Given the description of an element on the screen output the (x, y) to click on. 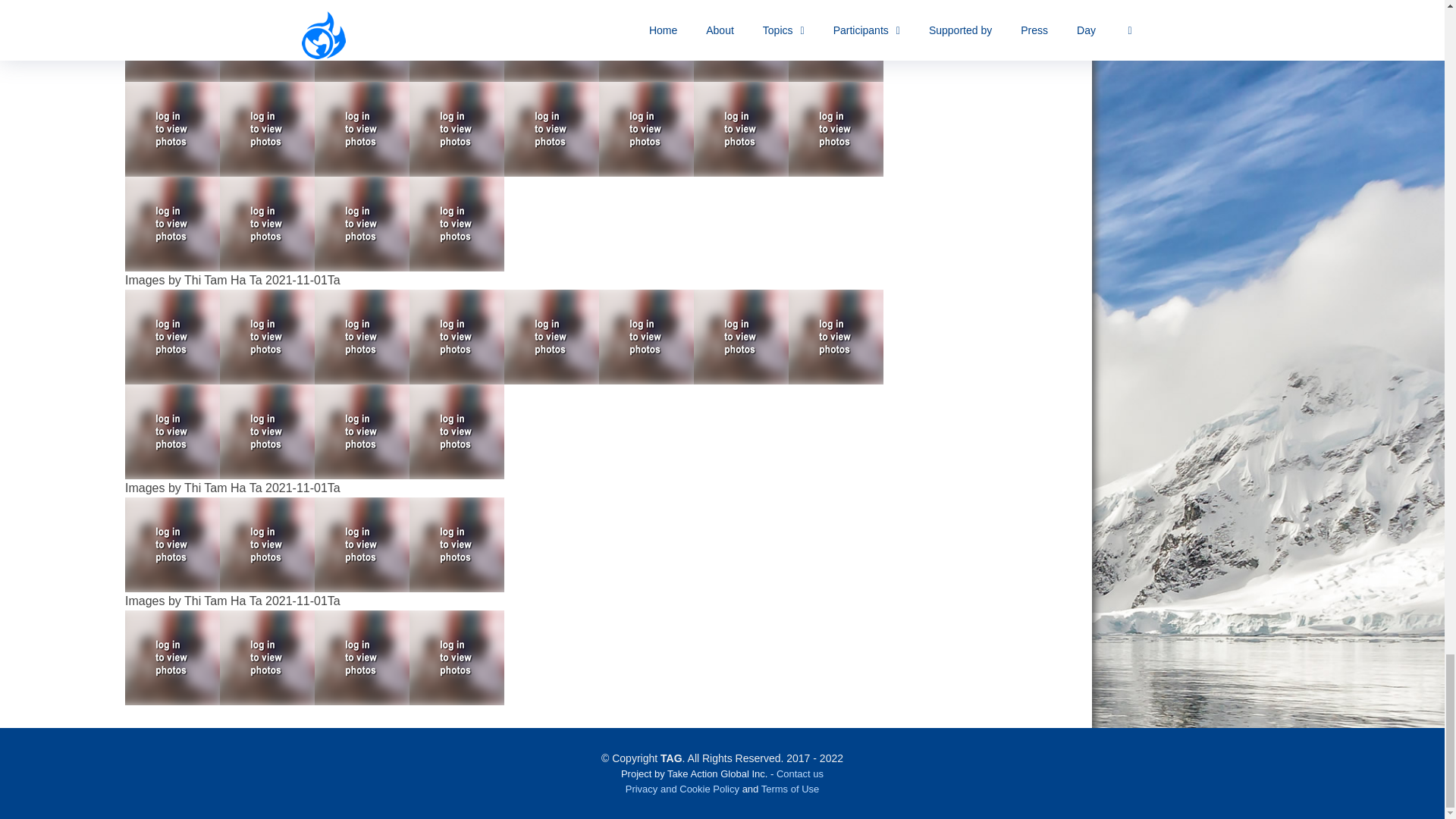
Terms of Use (790, 788)
Privacy and Cookie Policy (682, 788)
Contact us (800, 773)
